Given the description of an element on the screen output the (x, y) to click on. 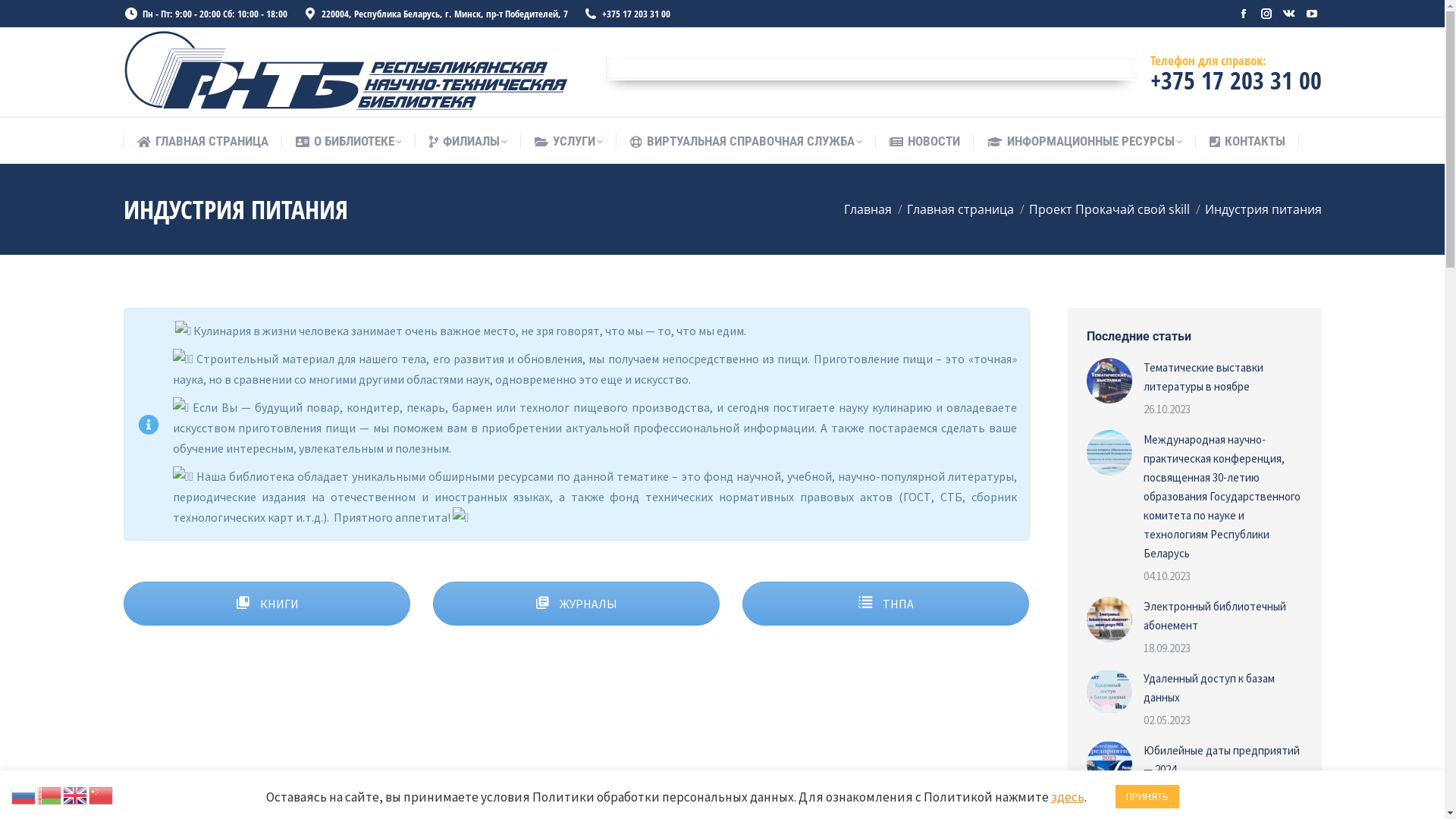
Facebook page opens in new window Element type: text (1242, 13)
Chinese (Simplified) Element type: hover (101, 793)
Russian Element type: hover (24, 793)
Instagram page opens in new window Element type: text (1265, 13)
YouTube page opens in new window Element type: text (1311, 13)
Belarusian Element type: hover (49, 793)
English Element type: hover (75, 793)
